Given the description of an element on the screen output the (x, y) to click on. 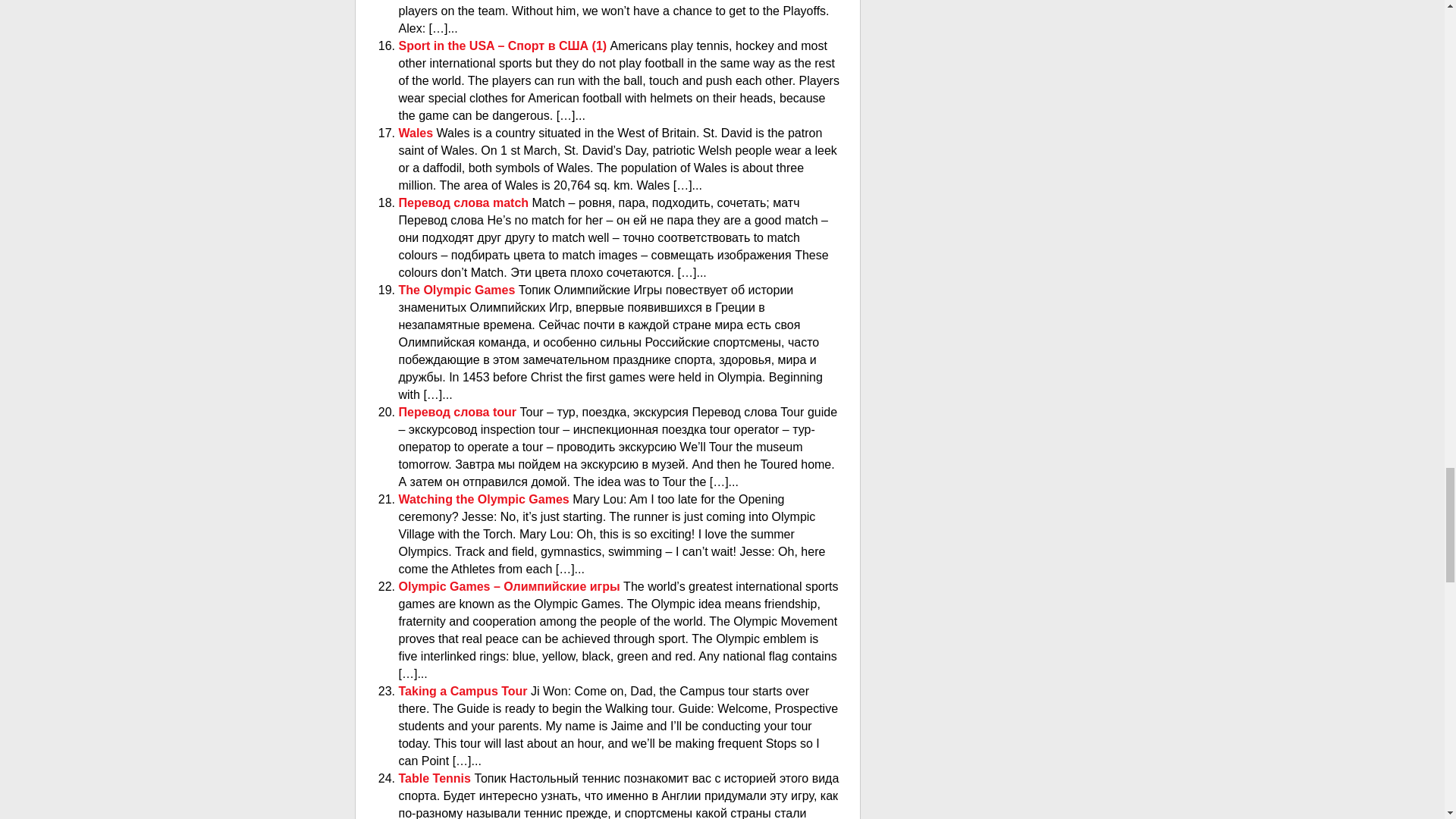
Table Tennis (436, 778)
Watching the Olympic Games (485, 499)
The Olympic Games (458, 289)
Wales (417, 132)
Taking a Campus Tour (464, 690)
